Given the description of an element on the screen output the (x, y) to click on. 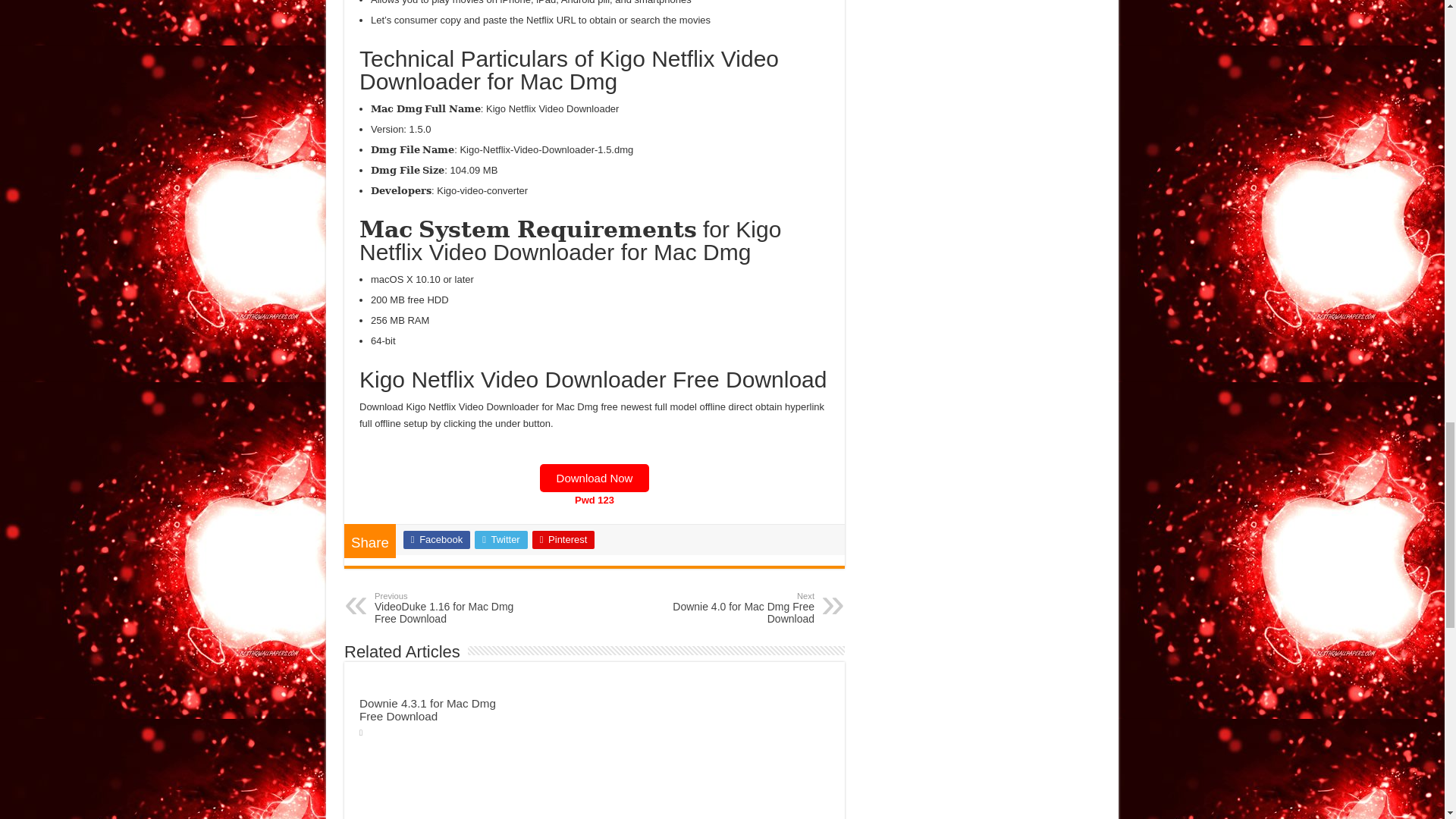
Download Now (594, 478)
Pinterest (563, 539)
Facebook (436, 539)
Twitter (500, 539)
